Given the description of an element on the screen output the (x, y) to click on. 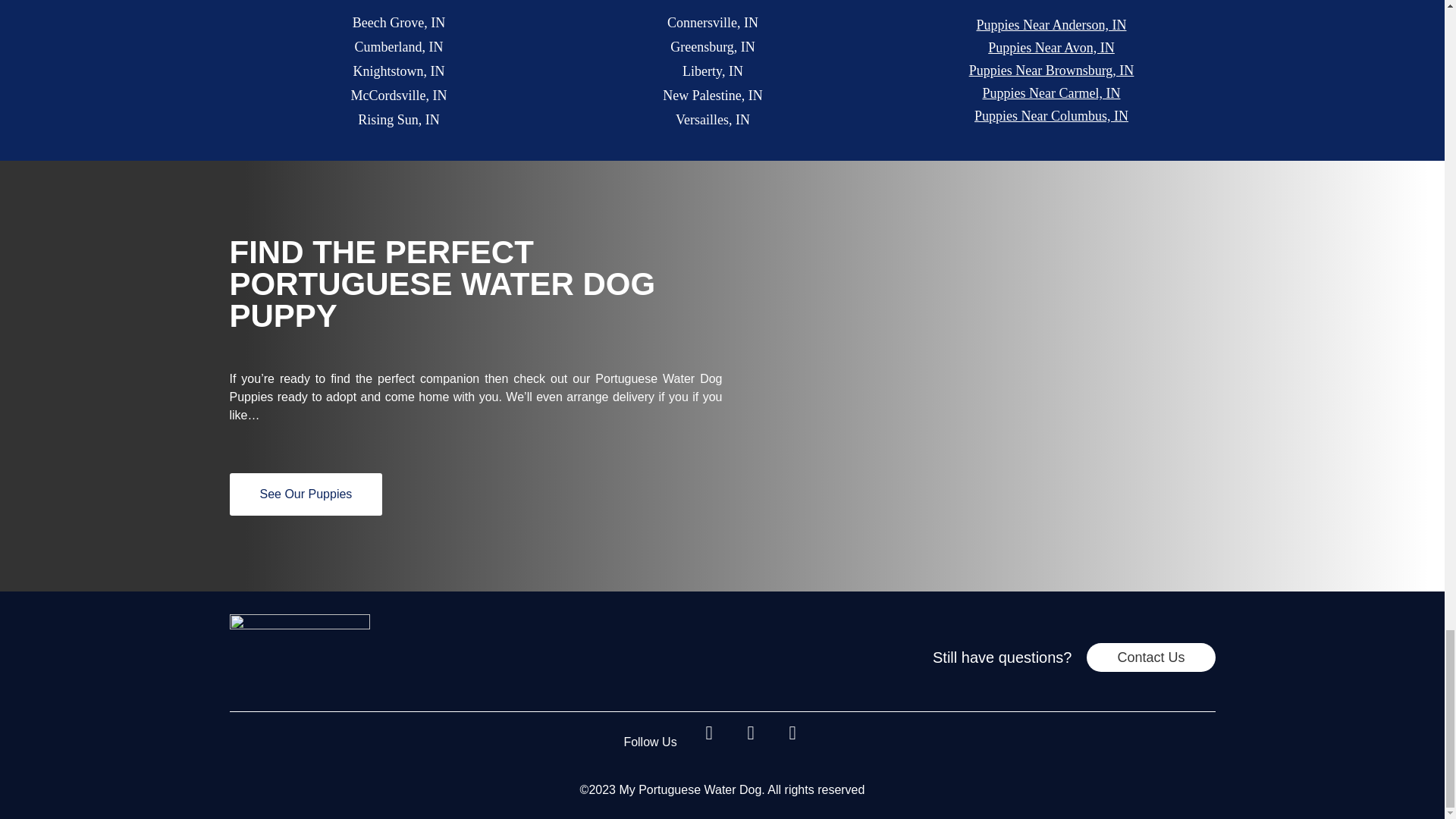
Puppies Near Carmel, IN (1050, 93)
Puppies Near Brownsburg, IN (1050, 70)
Puppies Near Avon, IN (1050, 47)
Puppies Near Anderson, IN (1050, 25)
Puppies Near Columbus, IN (1050, 116)
